Given the description of an element on the screen output the (x, y) to click on. 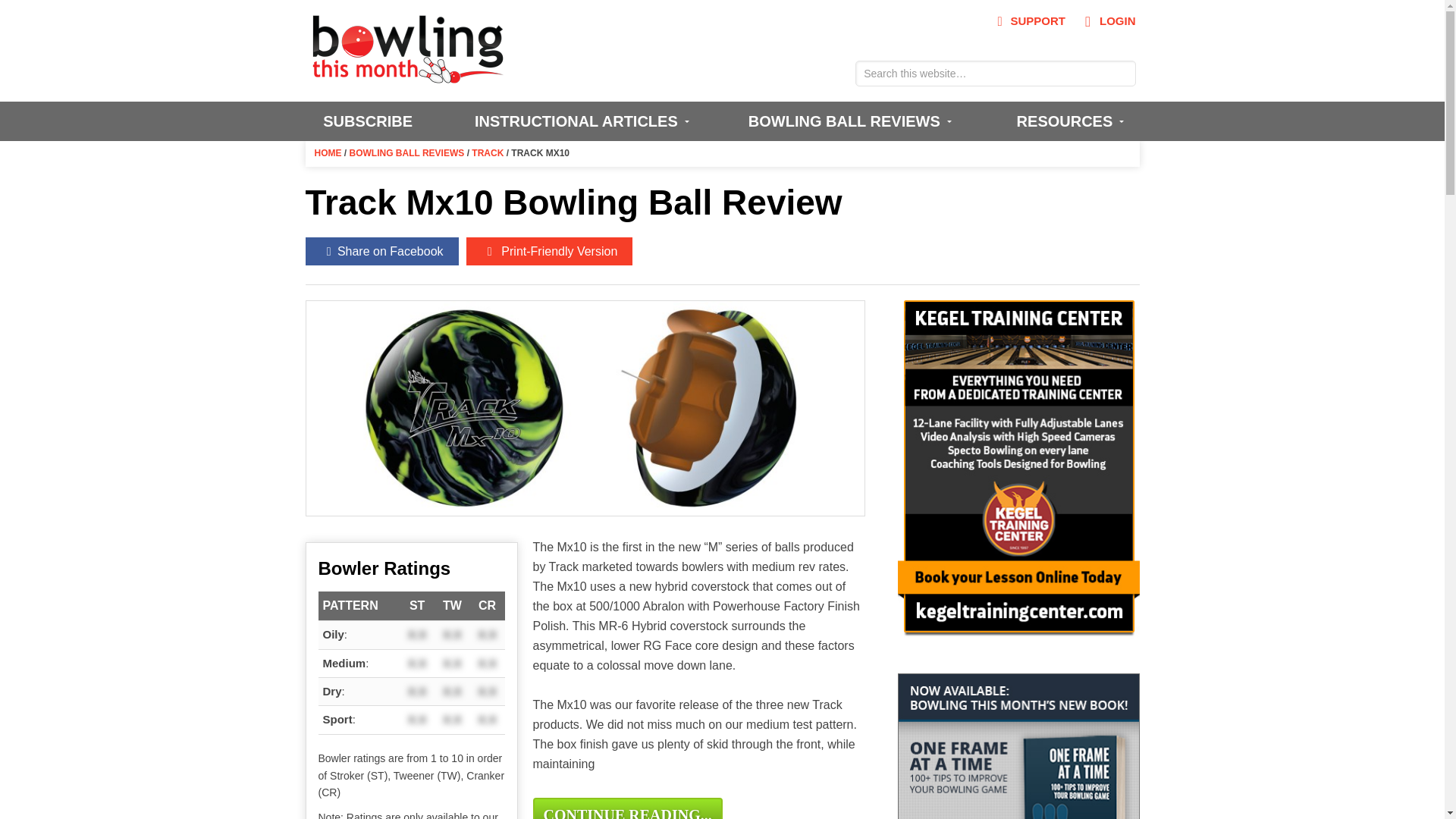
Bowling Ball Reviews (847, 120)
Share on Facebook (381, 251)
Print (549, 251)
LOGIN (1106, 21)
Bowling This Month (407, 75)
BOWLING BALL REVIEWS (847, 120)
SUBSCRIBE (367, 120)
INSTRUCTIONAL ARTICLES (579, 120)
SUPPORT (1028, 21)
Instructional Articles (579, 120)
